Given the description of an element on the screen output the (x, y) to click on. 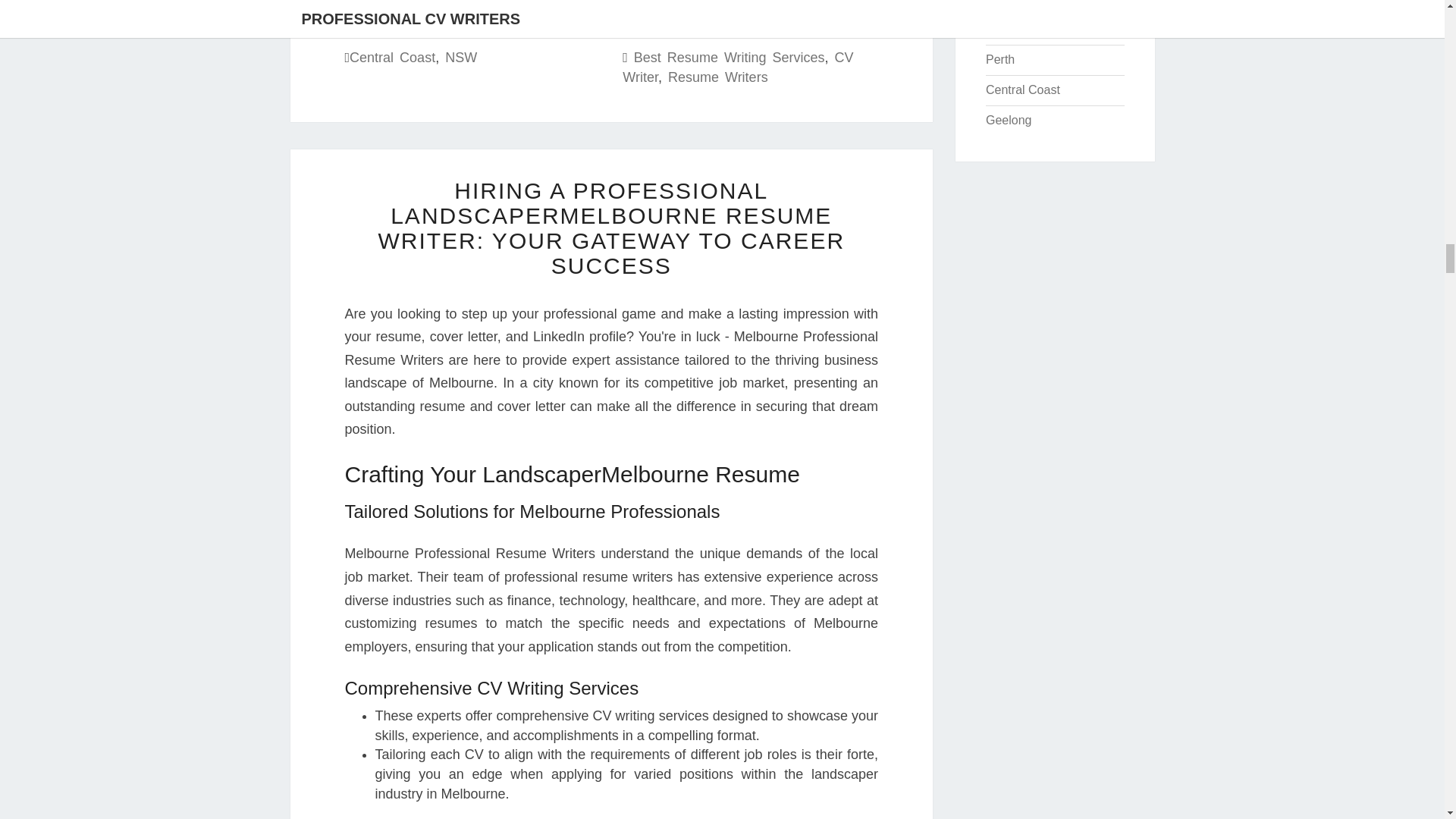
Central Coast (392, 57)
CV Writer (738, 67)
Resume Writers (718, 77)
Best Resume Writing Services (729, 57)
NSW (461, 57)
